Given the description of an element on the screen output the (x, y) to click on. 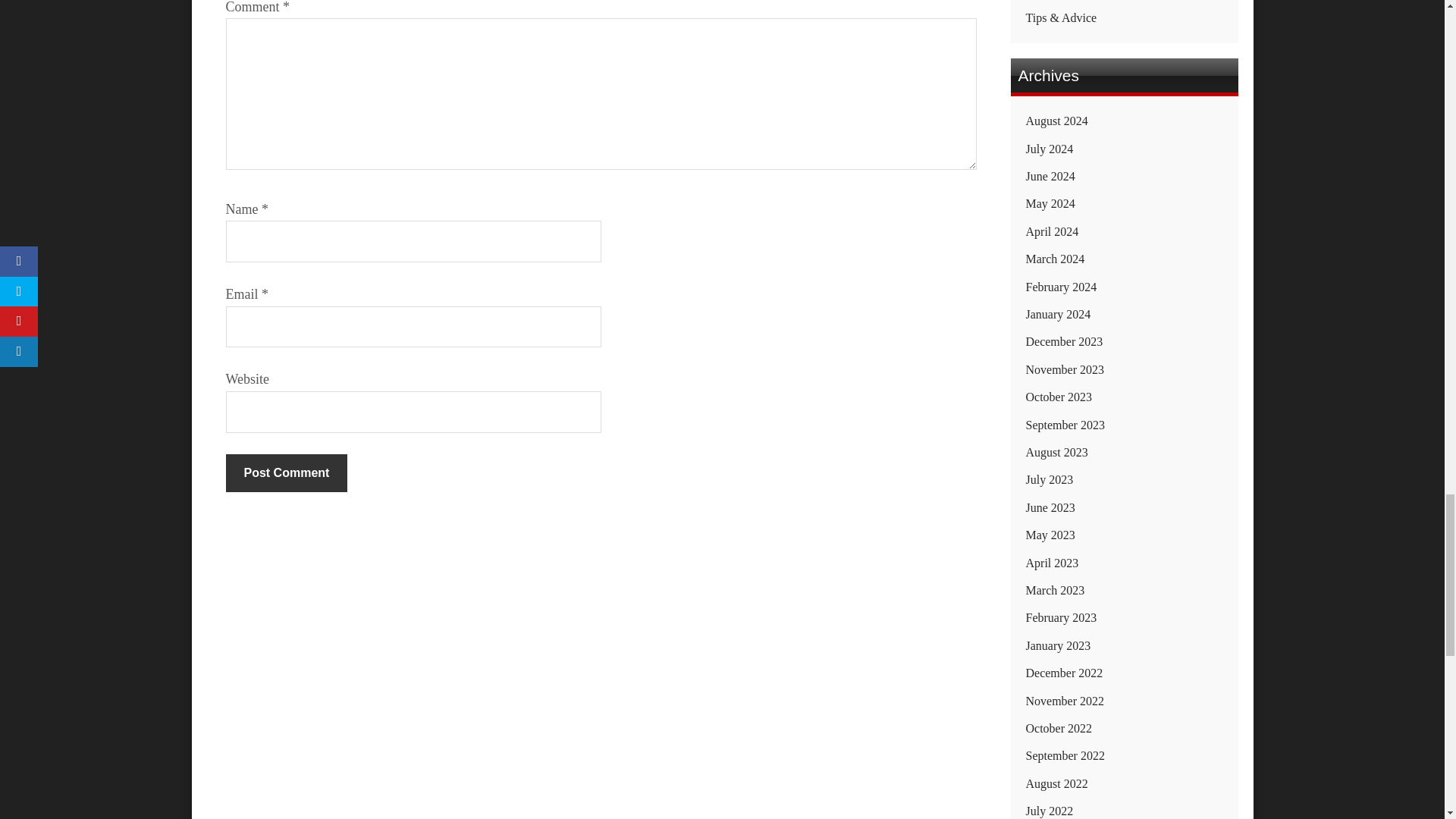
Post Comment (286, 473)
